Given the description of an element on the screen output the (x, y) to click on. 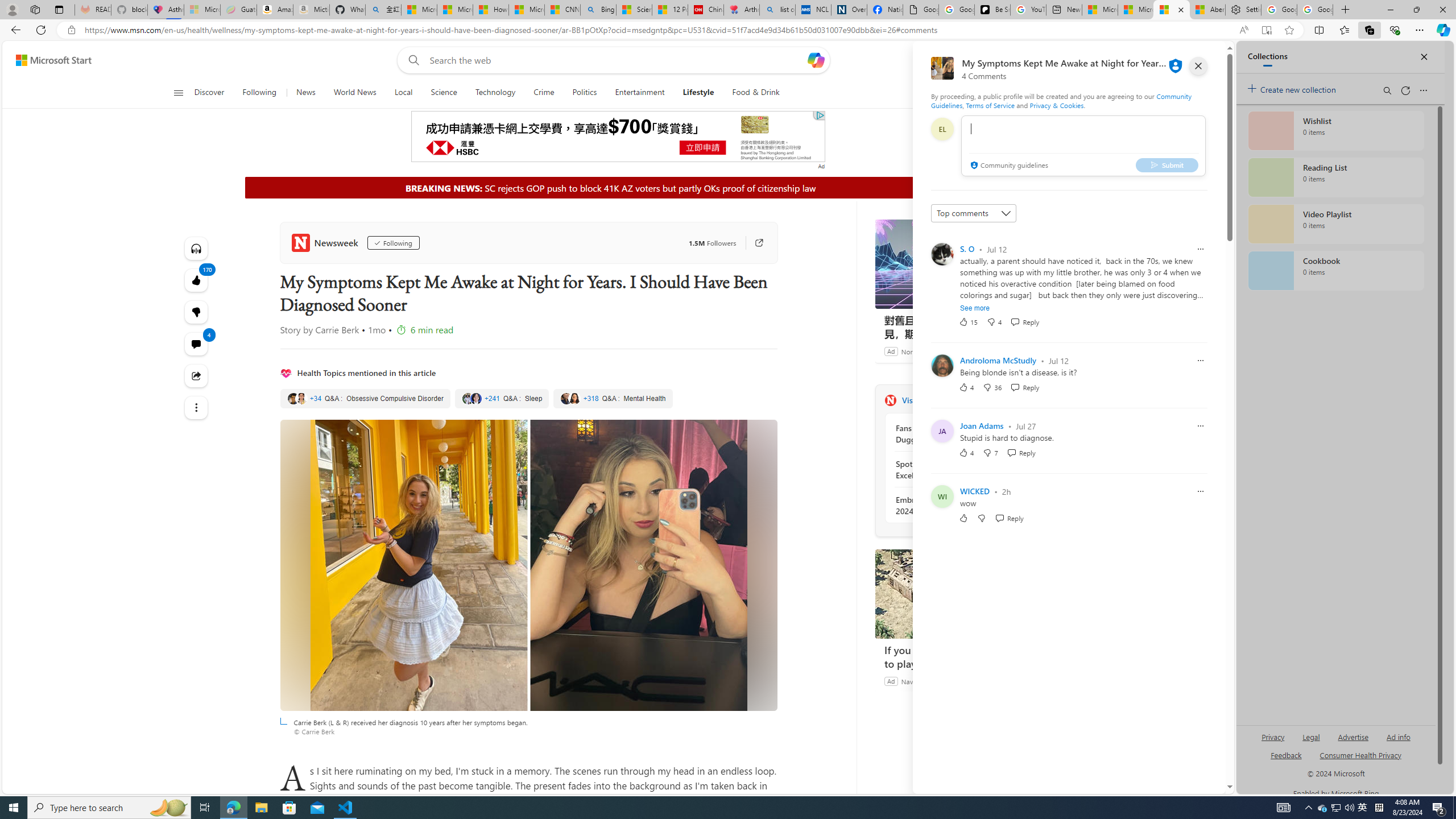
Mental Health (612, 398)
Obsessive Compulsive Disorder (364, 398)
If you have a mouse, you have to play this game. (960, 593)
close (1198, 65)
comment-box (1082, 145)
AutomationID: sb_feedback (1286, 754)
